Given the description of an element on the screen output the (x, y) to click on. 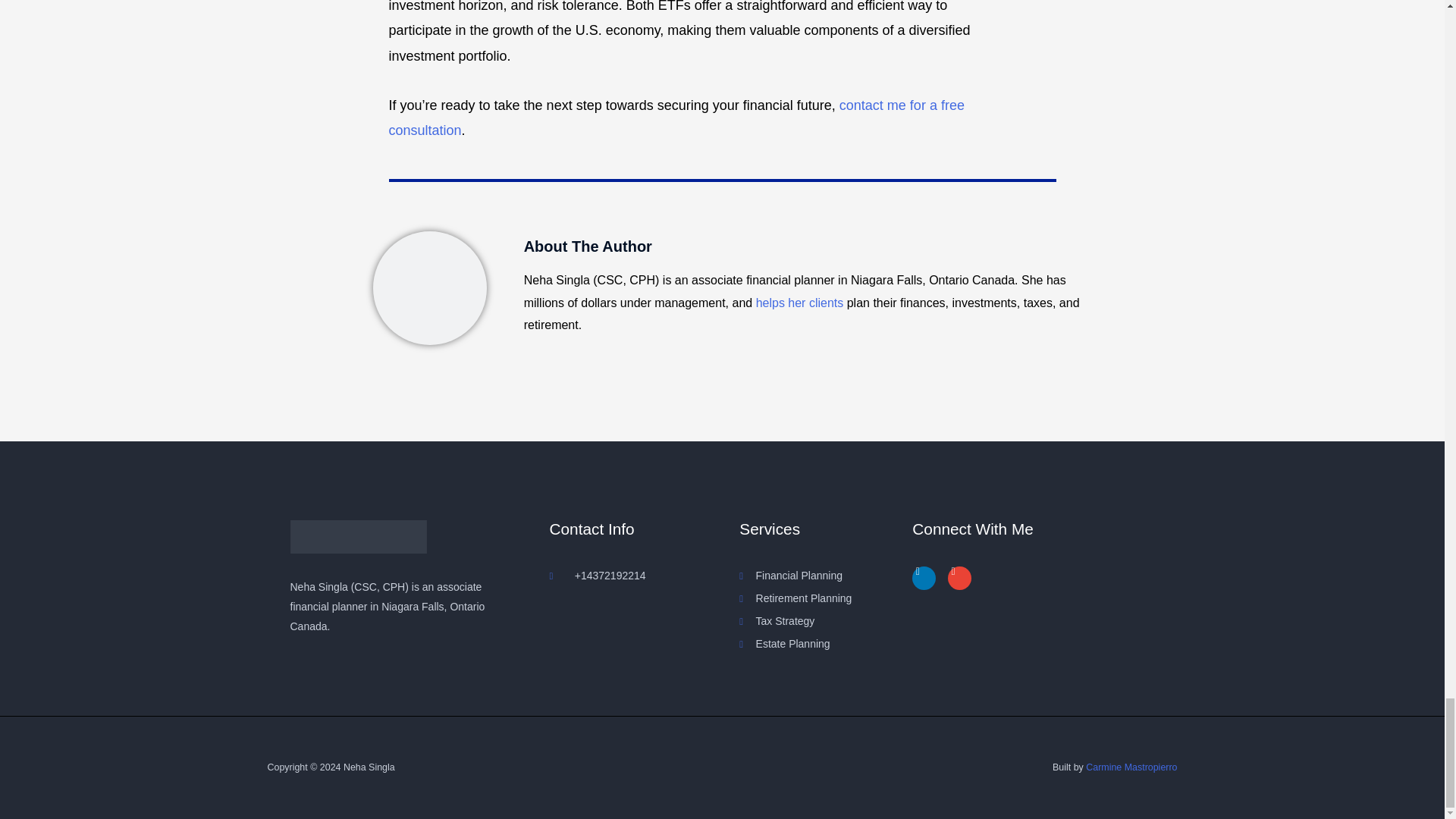
contact me for a free consultation (675, 117)
